Given the description of an element on the screen output the (x, y) to click on. 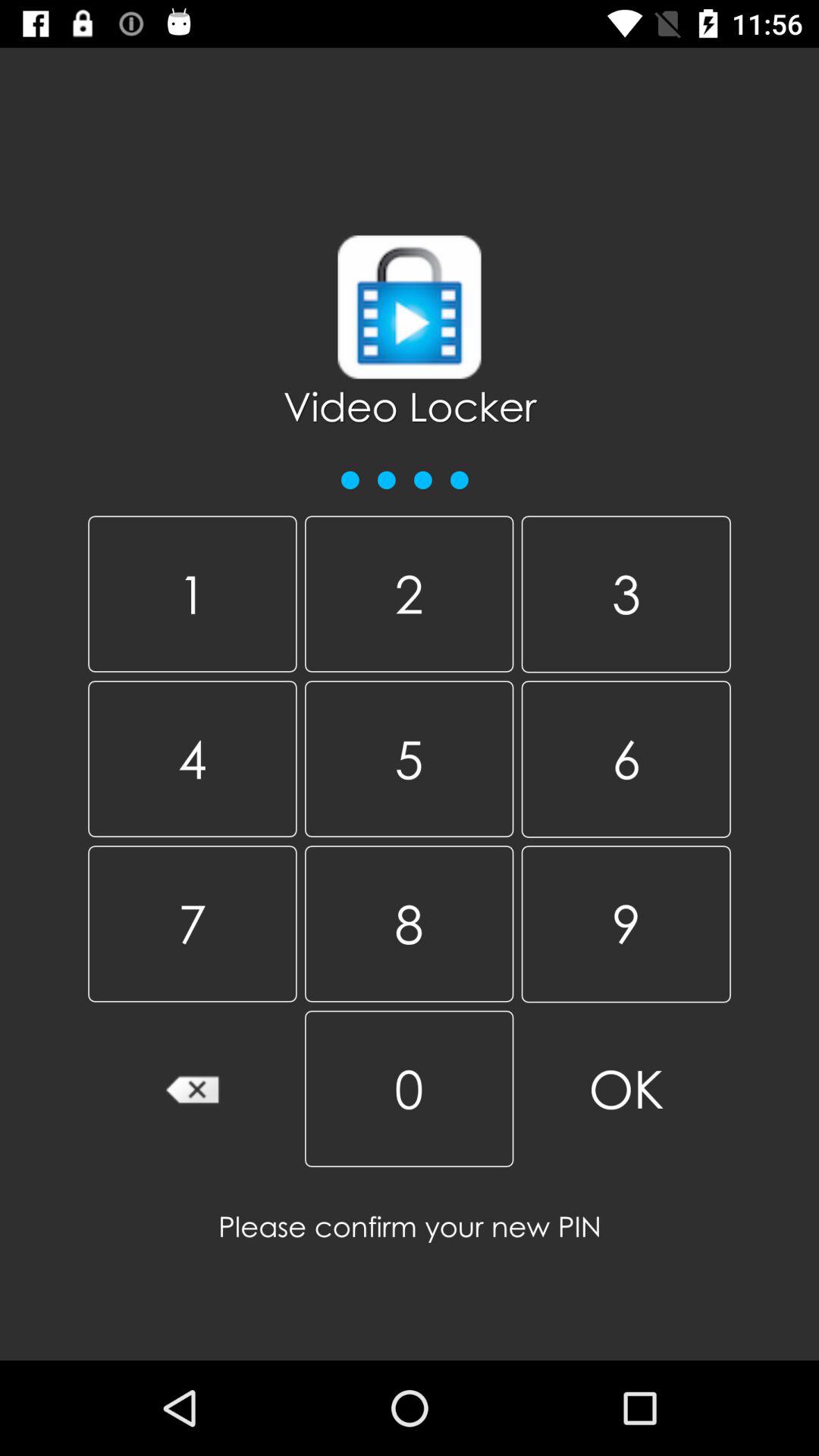
turn on the item below 1234 (192, 593)
